Given the description of an element on the screen output the (x, y) to click on. 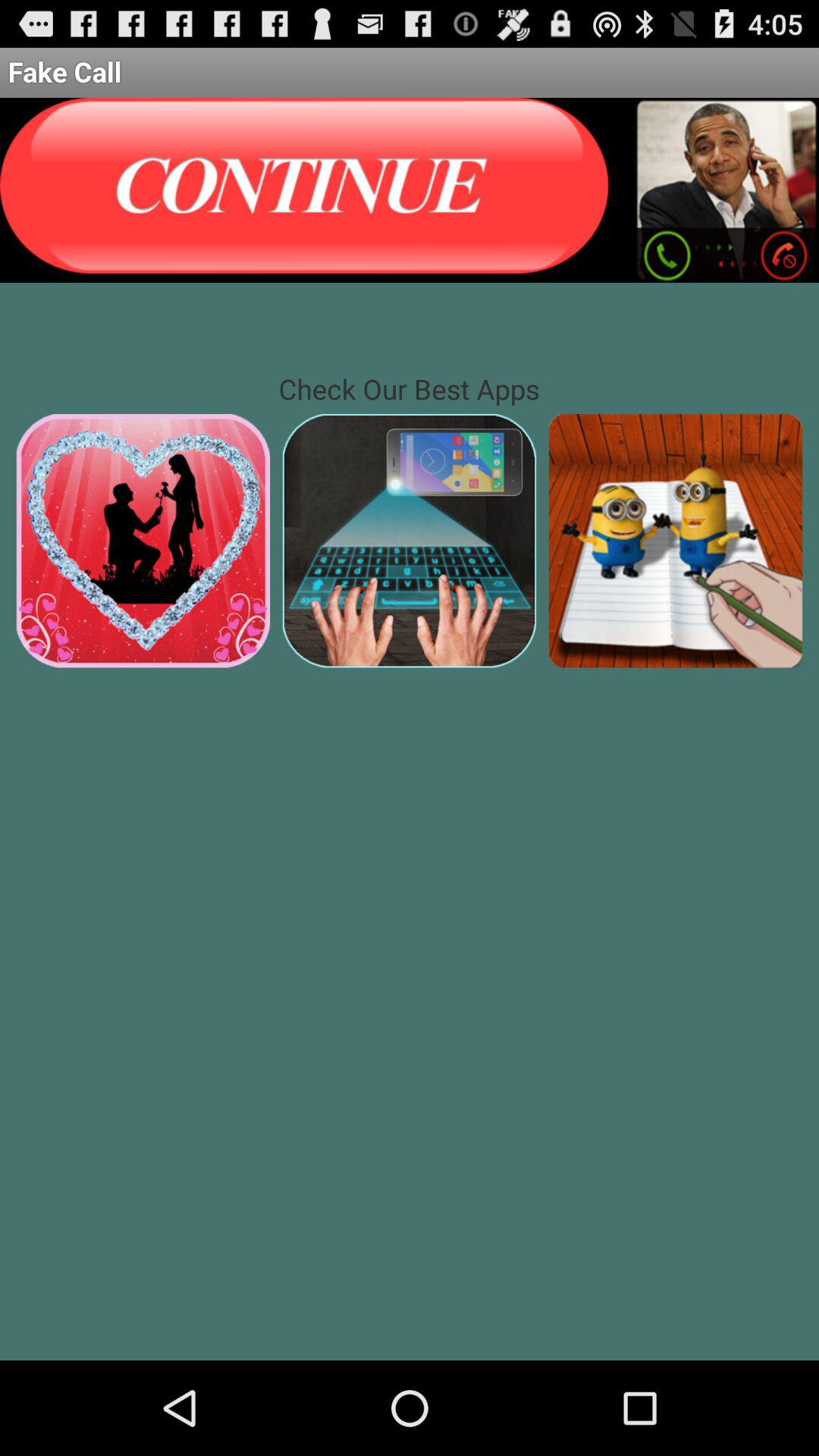
keyboard (409, 540)
